Given the description of an element on the screen output the (x, y) to click on. 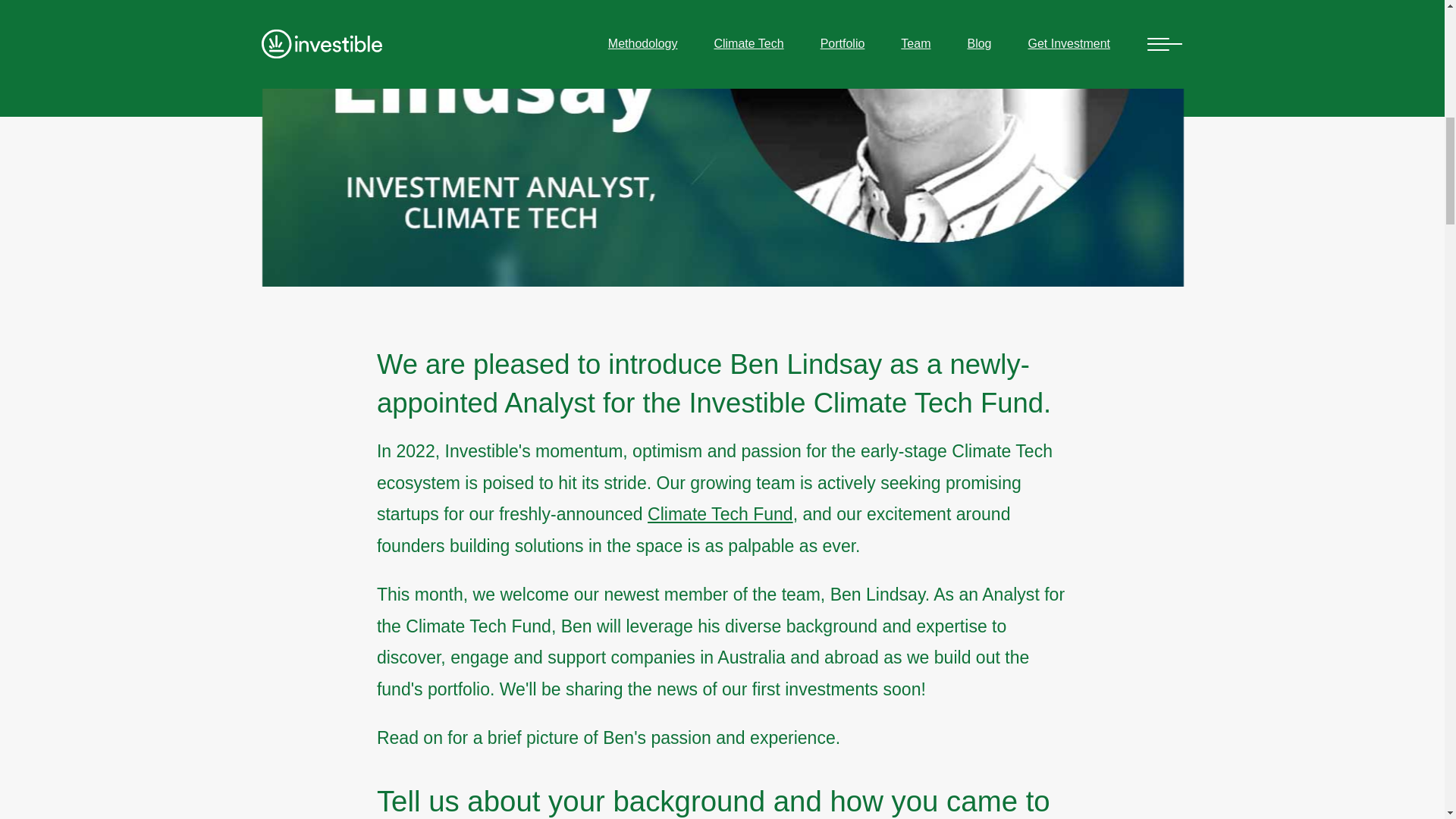
Climate Tech Fund (720, 514)
